Given the description of an element on the screen output the (x, y) to click on. 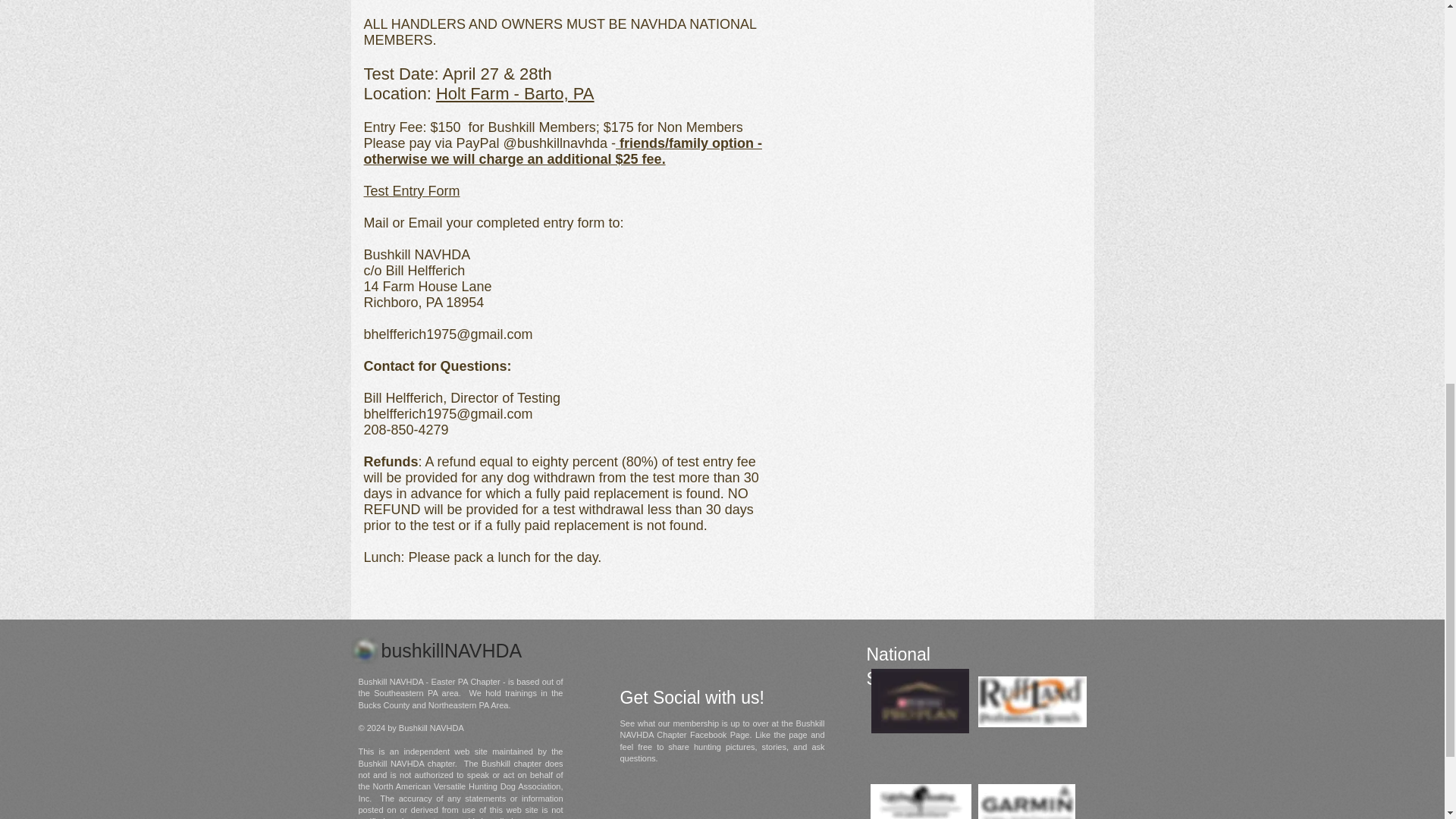
Test Entry Form (412, 191)
bushkillNAVHDA (450, 654)
Holt Farm - Barto, PA (514, 93)
